Given the description of an element on the screen output the (x, y) to click on. 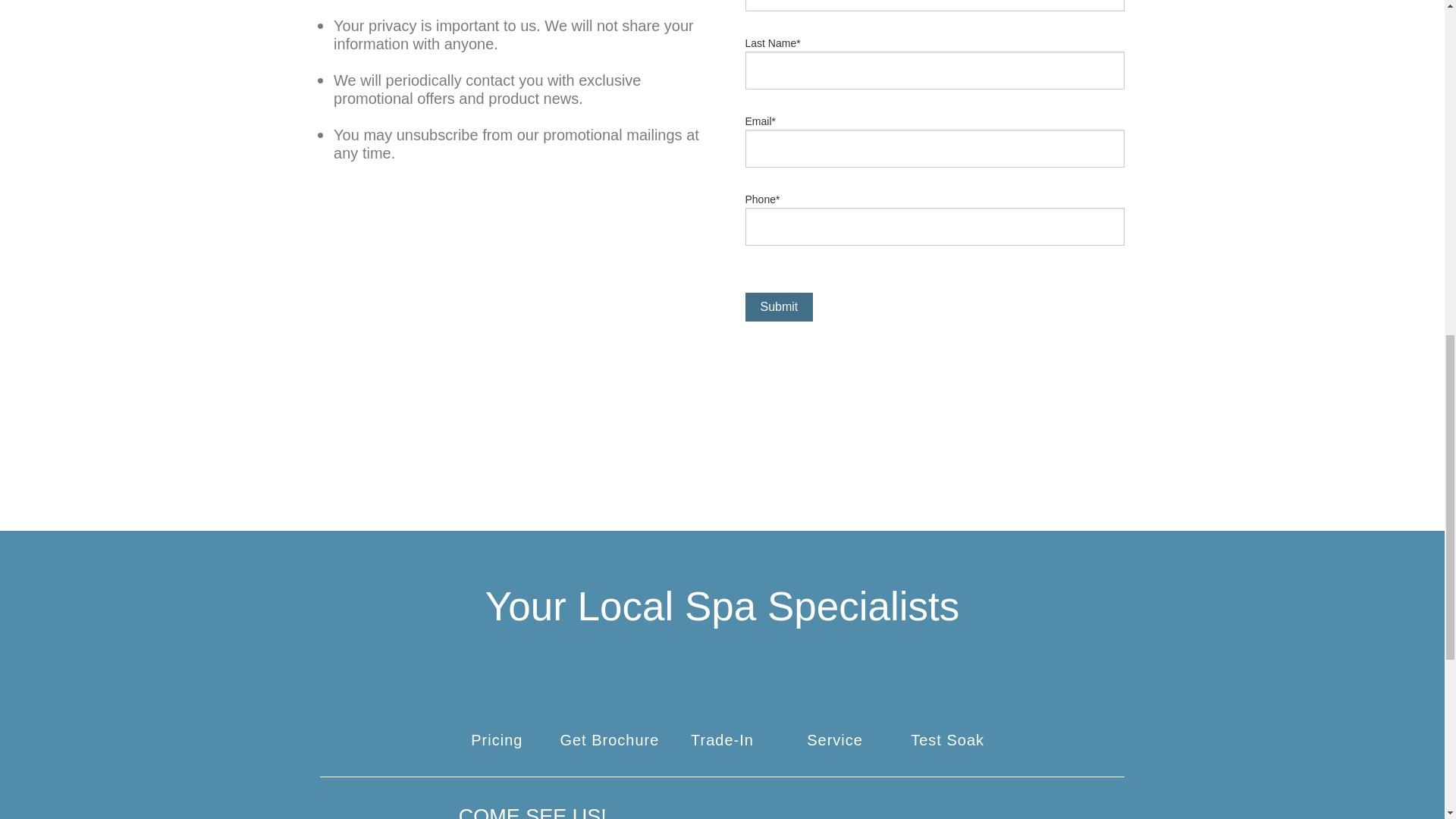
icon-Test-Soak (947, 743)
icon-Brochure (609, 743)
Submit (778, 337)
